Given the description of an element on the screen output the (x, y) to click on. 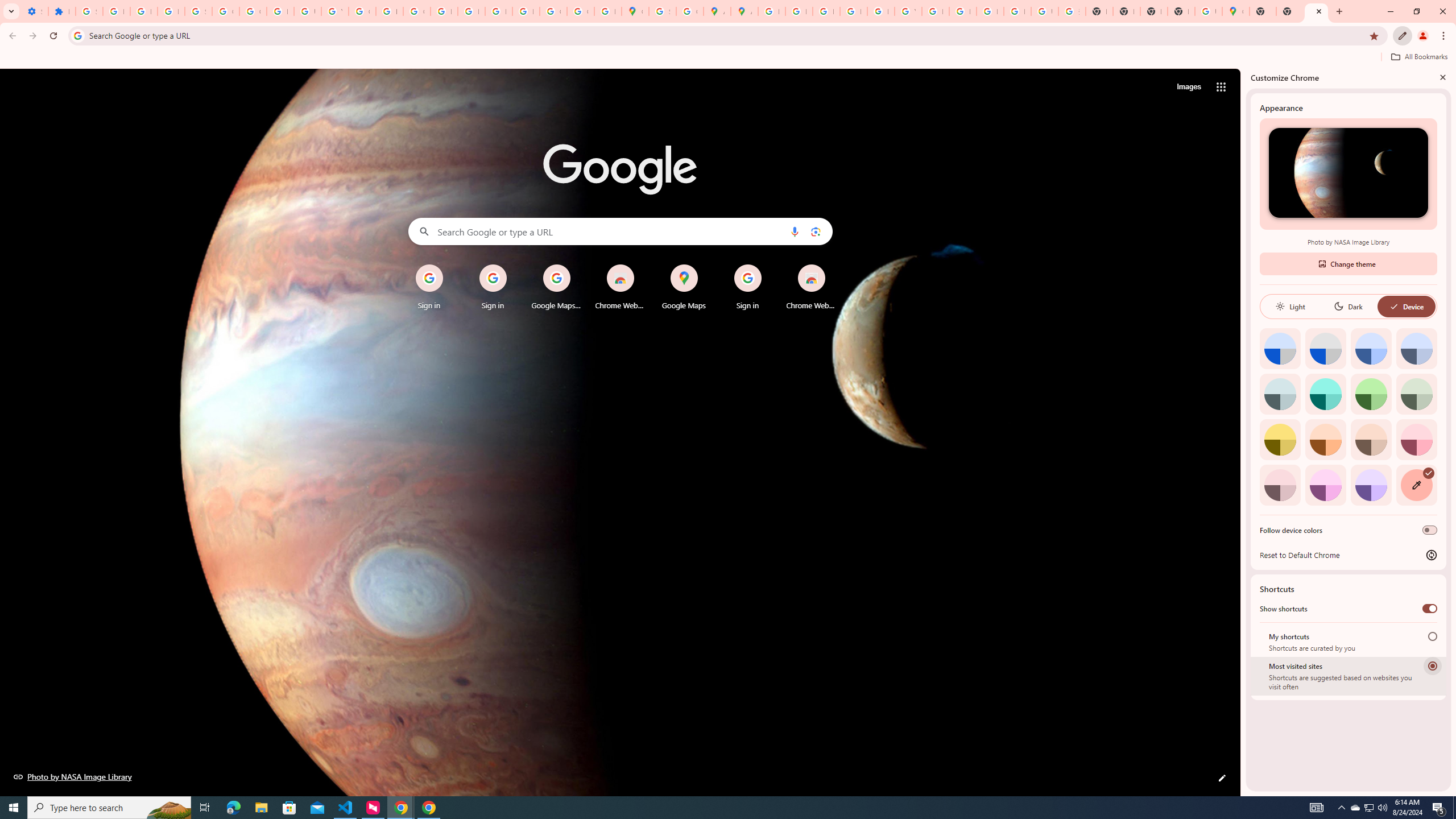
Aqua (1325, 393)
New Tab (1316, 11)
Apricot (1371, 439)
Search Google or type a URL (619, 230)
Violet (1371, 484)
Policy Accountability and Transparency - Transparency Center (771, 11)
